Given the description of an element on the screen output the (x, y) to click on. 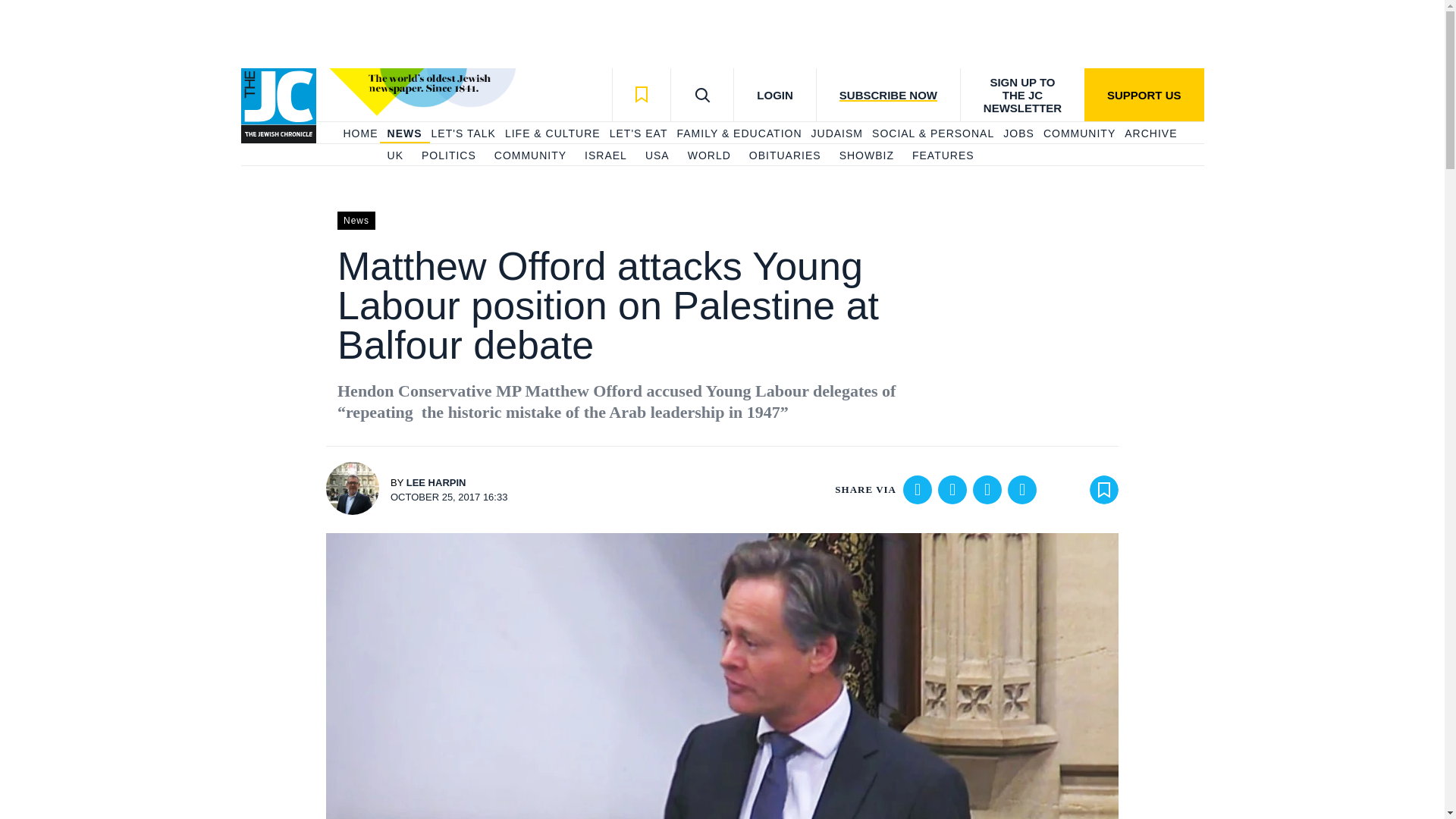
LET'S EAT (639, 133)
COMMUNITY (530, 155)
SUBSCRIBE NOW (887, 94)
SIGN UP TO THE JC NEWSLETTER (1021, 94)
NEWS (404, 133)
FEATURES (943, 155)
OBITUARIES (785, 155)
ISRAEL (606, 155)
HOME (359, 133)
WORLD (708, 155)
